Given the description of an element on the screen output the (x, y) to click on. 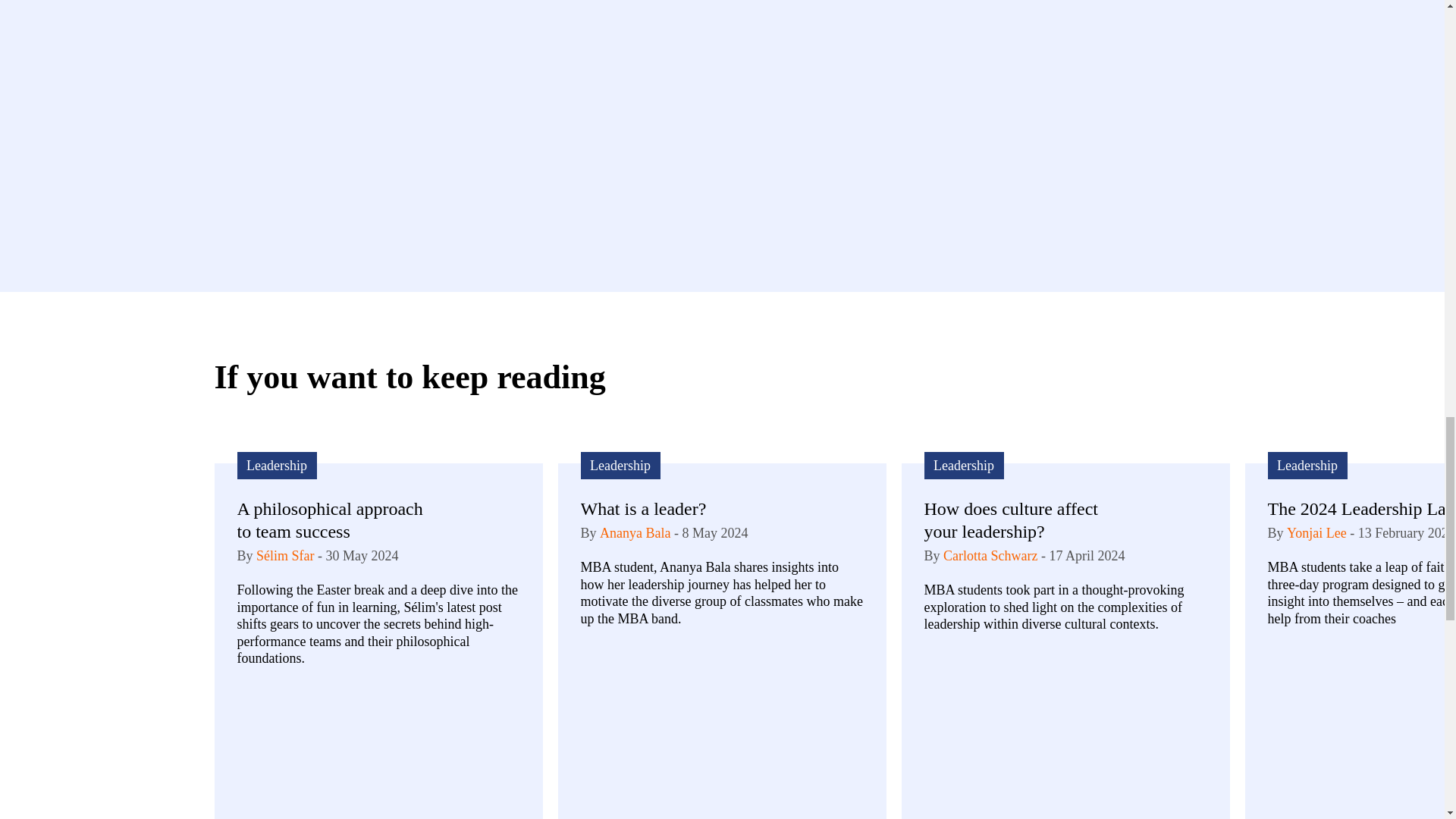
Carlotta Schwarz (989, 555)
Leadership (620, 465)
Yonjai Lee (1316, 532)
Ananya Bala (634, 532)
How does culture affect your leadership? (1022, 519)
Leadership (1308, 465)
Leadership (275, 465)
A philosophical approach to team success (334, 519)
What is a leader? (679, 508)
Comment Form (722, 108)
Leadership (963, 465)
